Given the description of an element on the screen output the (x, y) to click on. 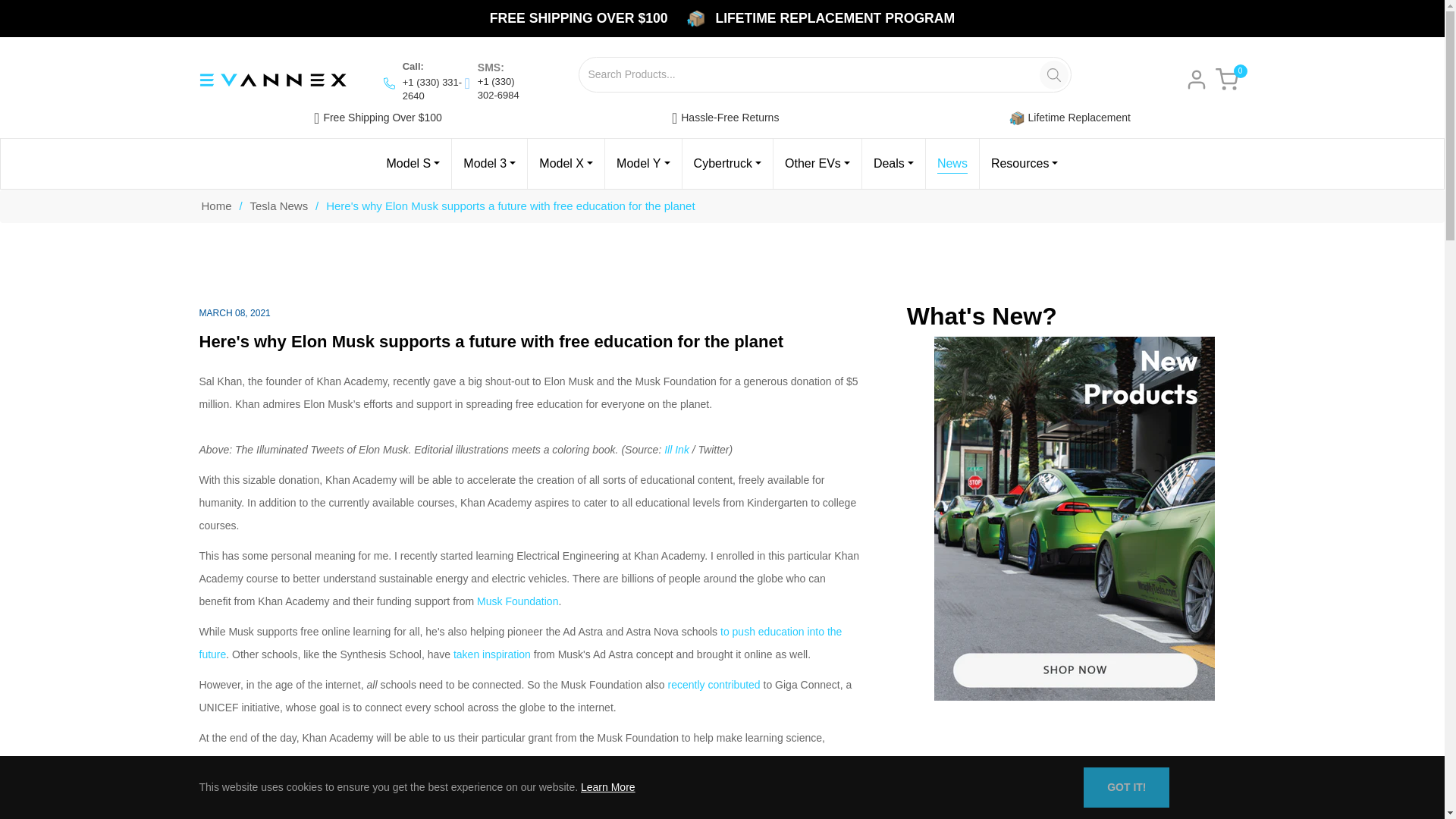
Model 3 (489, 163)
Home (215, 206)
Shopping Cart (1225, 78)
LIFETIME REPLACEMENT PROGRAM (834, 17)
Model S (413, 163)
